Given the description of an element on the screen output the (x, y) to click on. 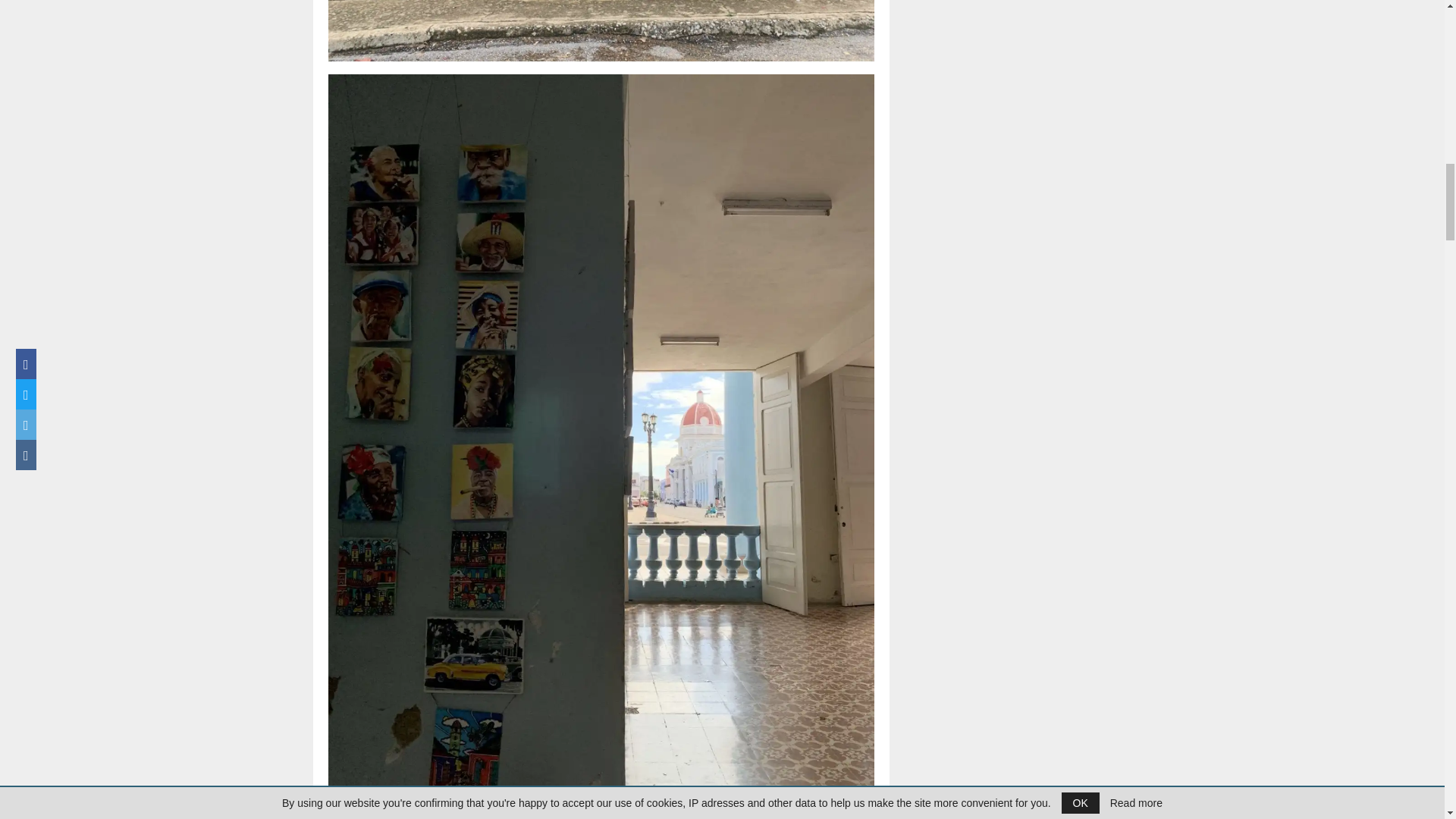
Cuba. One of a kind. Chapter II. 2 (600, 30)
